Given the description of an element on the screen output the (x, y) to click on. 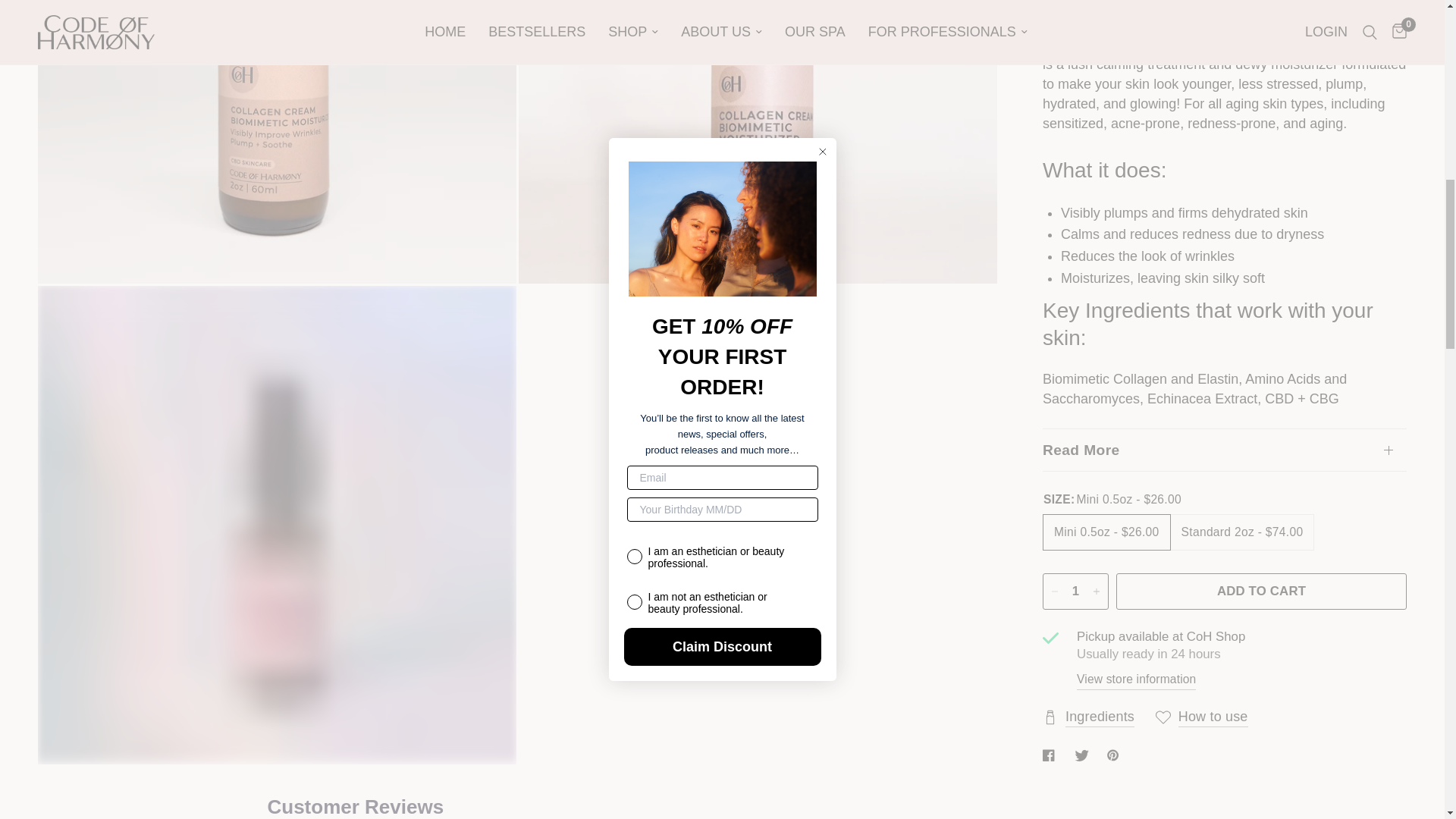
1 (1074, 68)
